Given the description of an element on the screen output the (x, y) to click on. 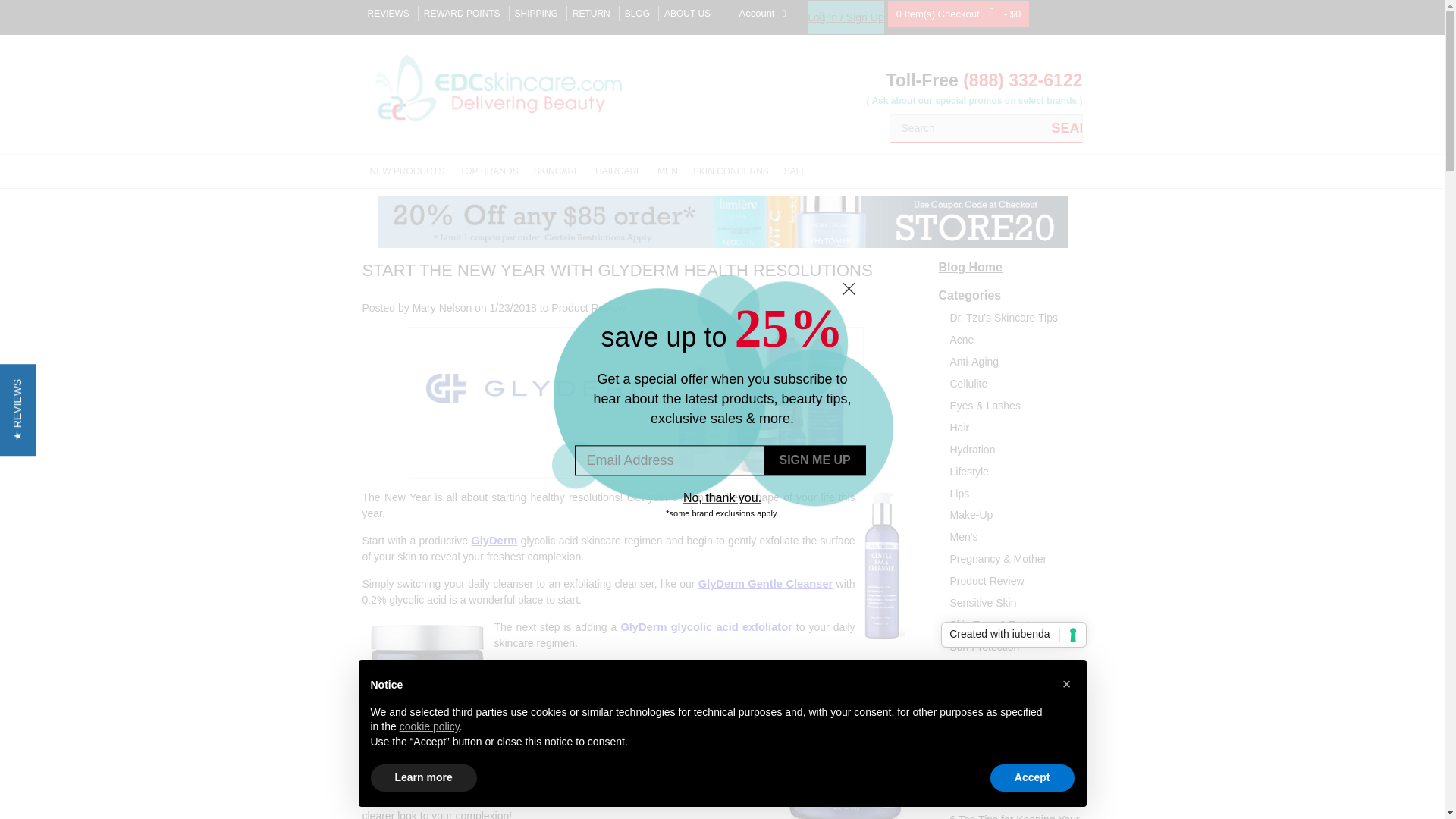
Maybe Later (722, 498)
SKINCARE (556, 171)
REWARD POINTS (461, 13)
RETURN (591, 13)
ABOUT US (686, 13)
TOP BRANDS (488, 171)
BLOG (636, 13)
REVIEWS (387, 13)
SEARCH (1066, 127)
START THE NEW YEAR WITH GLYDERM HEALTH RESOLUTIONS (617, 270)
iubenda - Cookie Policy and Cookie Compliance Management (1013, 634)
SHIPPING (536, 13)
SIGN ME UP (815, 460)
SUBMIT (815, 460)
Close (847, 287)
